Given the description of an element on the screen output the (x, y) to click on. 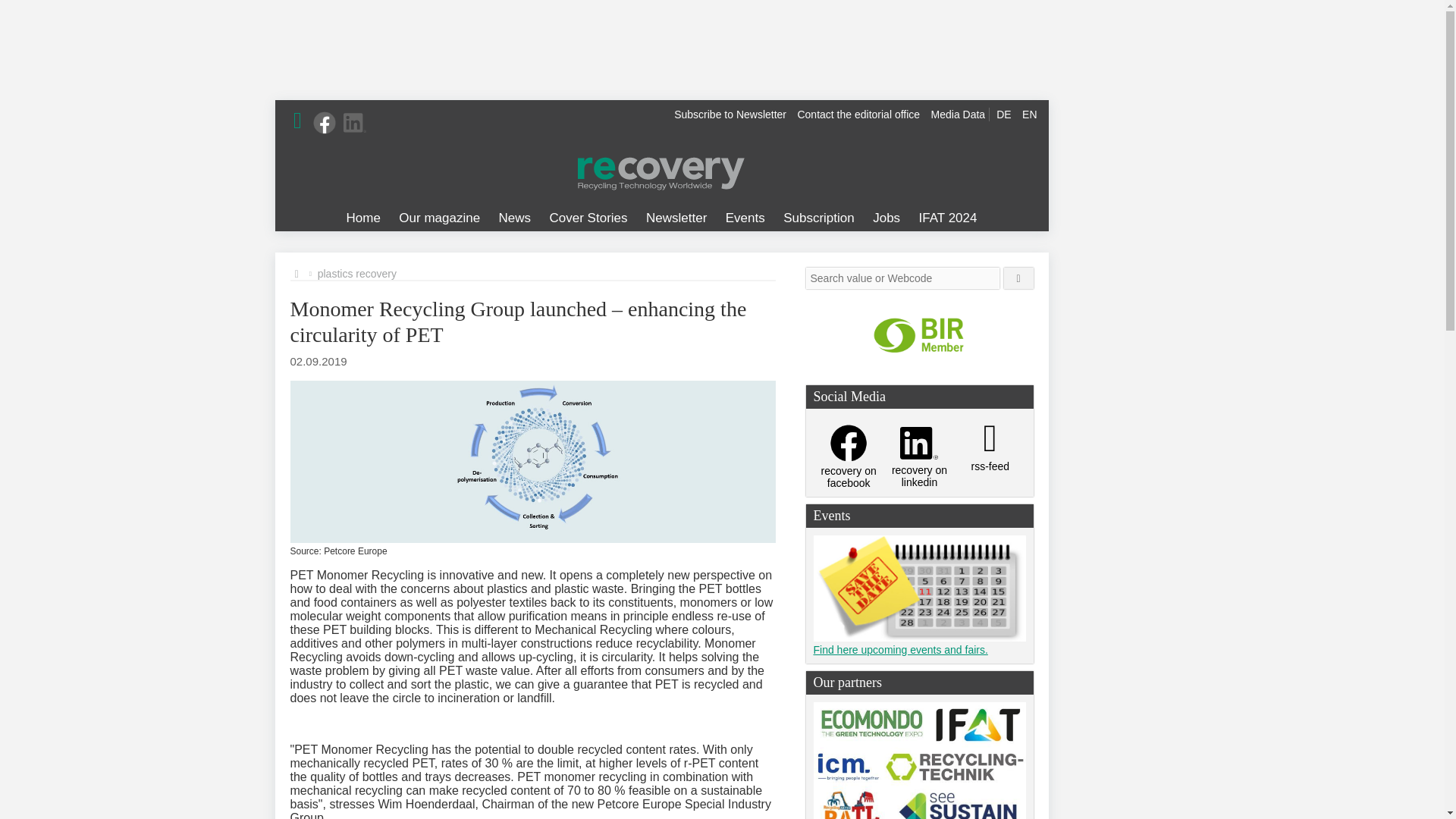
Our magazine (439, 218)
Home (363, 218)
Media Data (958, 114)
IFAT 2024 (948, 218)
Subscribe to Newsletter (729, 114)
DE (1003, 114)
Jobs (885, 218)
News (515, 218)
Search value or Webcode (901, 278)
Contact the editorial office (858, 114)
Cover Stories (587, 218)
EN (1029, 114)
Subscription (818, 218)
Newsletter (676, 218)
plastics recovery (356, 273)
